Given the description of an element on the screen output the (x, y) to click on. 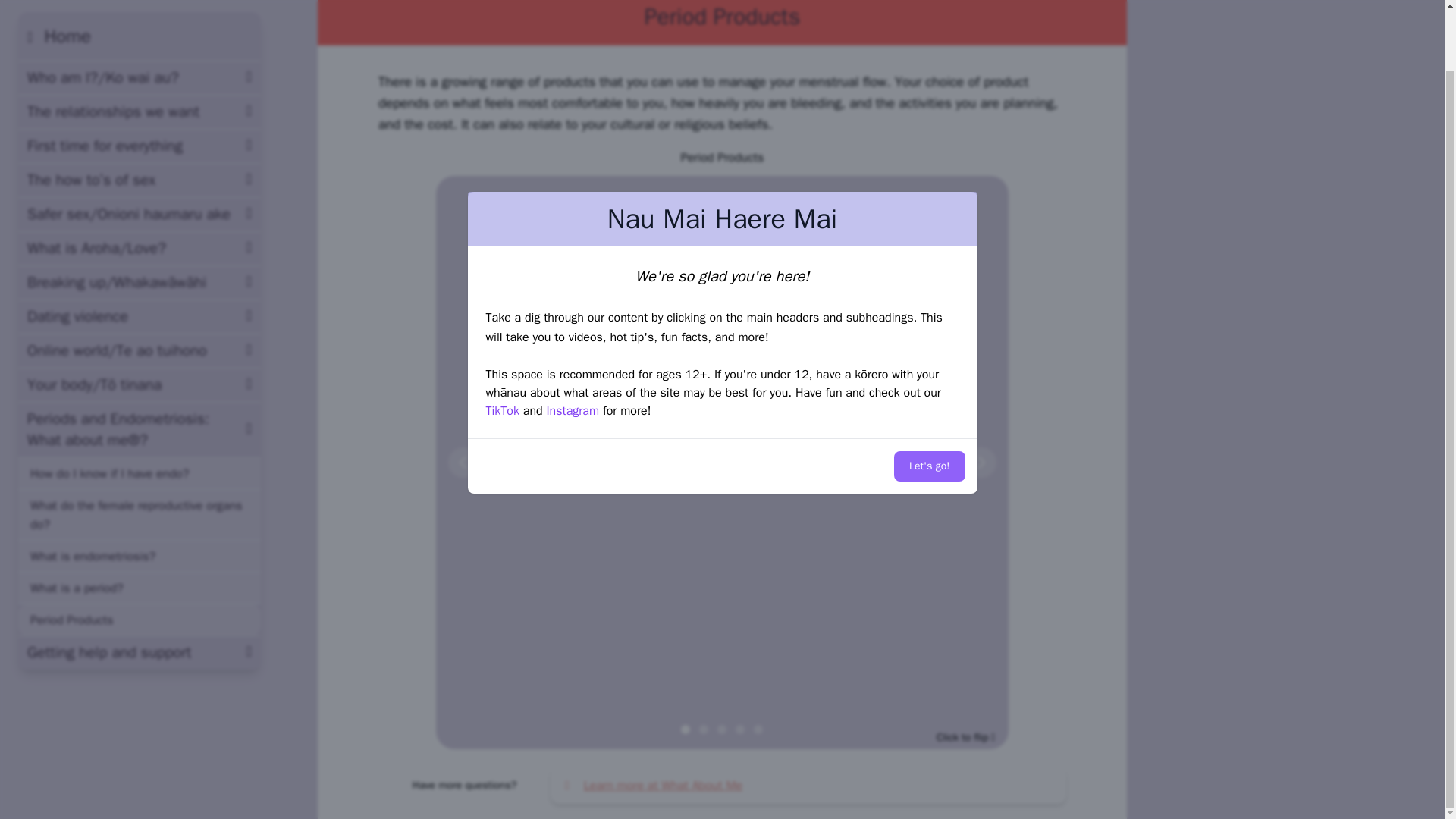
TikTok (501, 410)
Home (58, 36)
Instagram (572, 410)
Let's go! (928, 466)
